Given the description of an element on the screen output the (x, y) to click on. 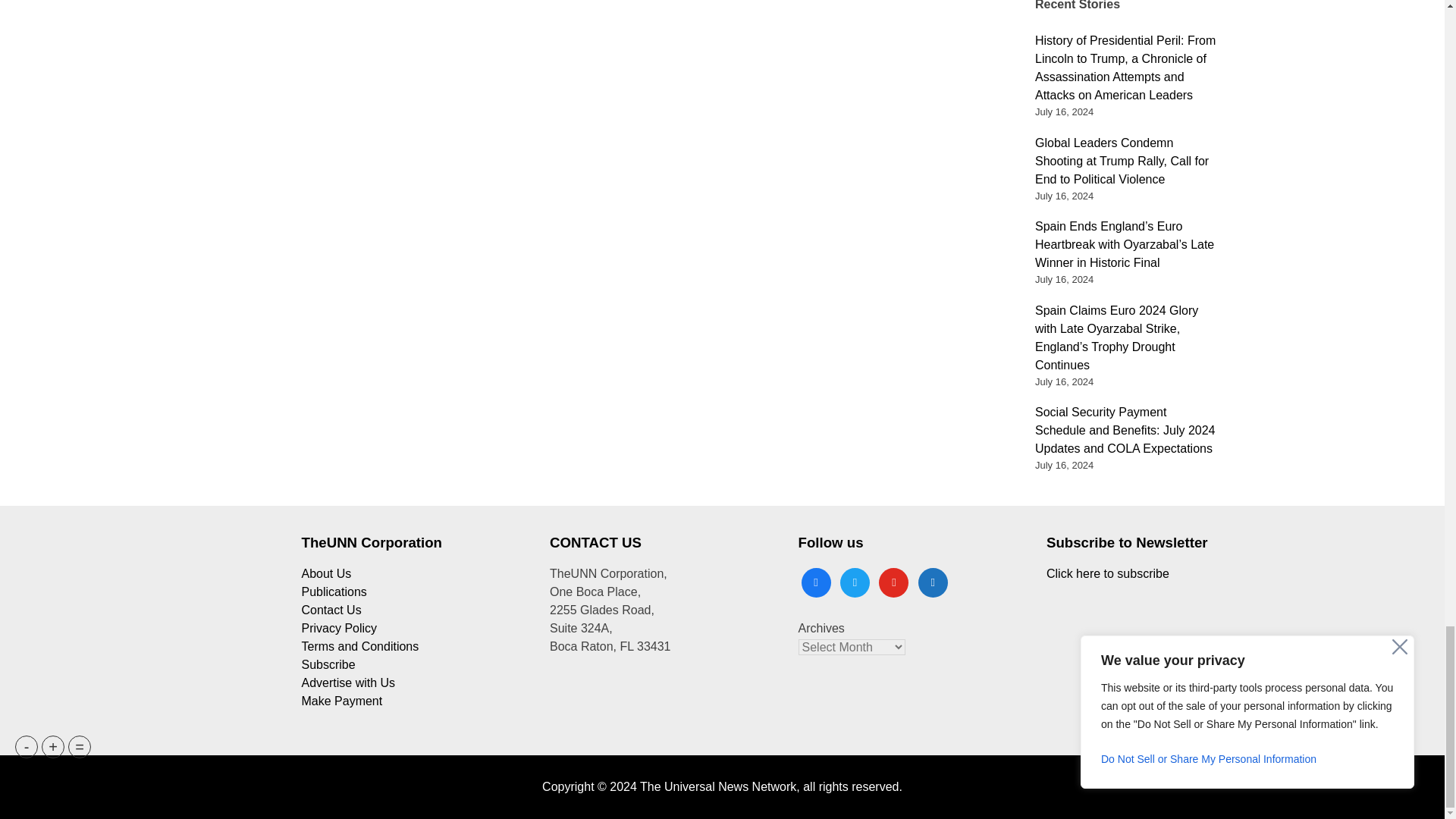
Facebook (814, 581)
Default Label (893, 581)
Twitter (854, 581)
Default Label (932, 581)
